Given the description of an element on the screen output the (x, y) to click on. 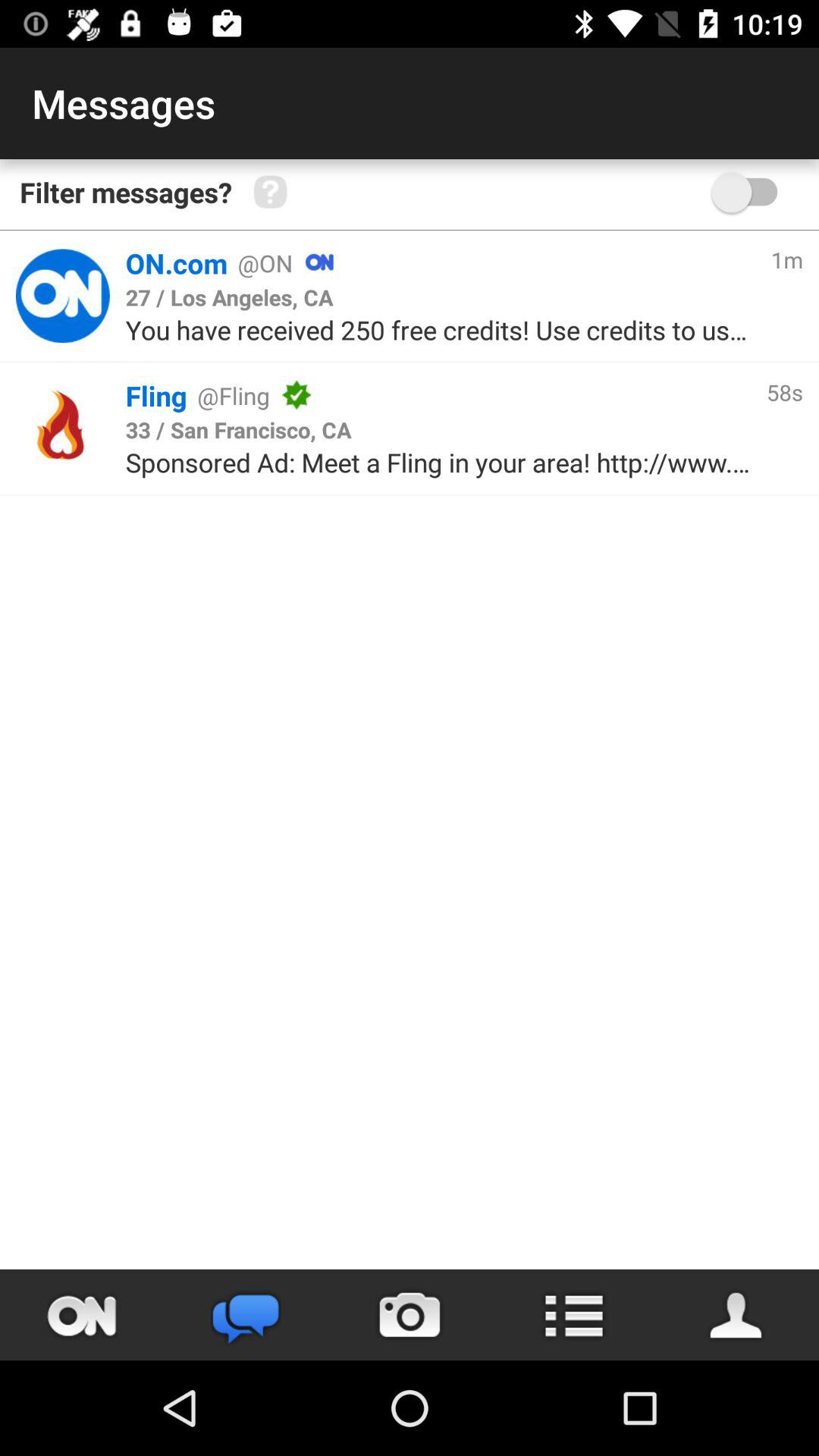
launch icon next to the 58s item (531, 395)
